Given the description of an element on the screen output the (x, y) to click on. 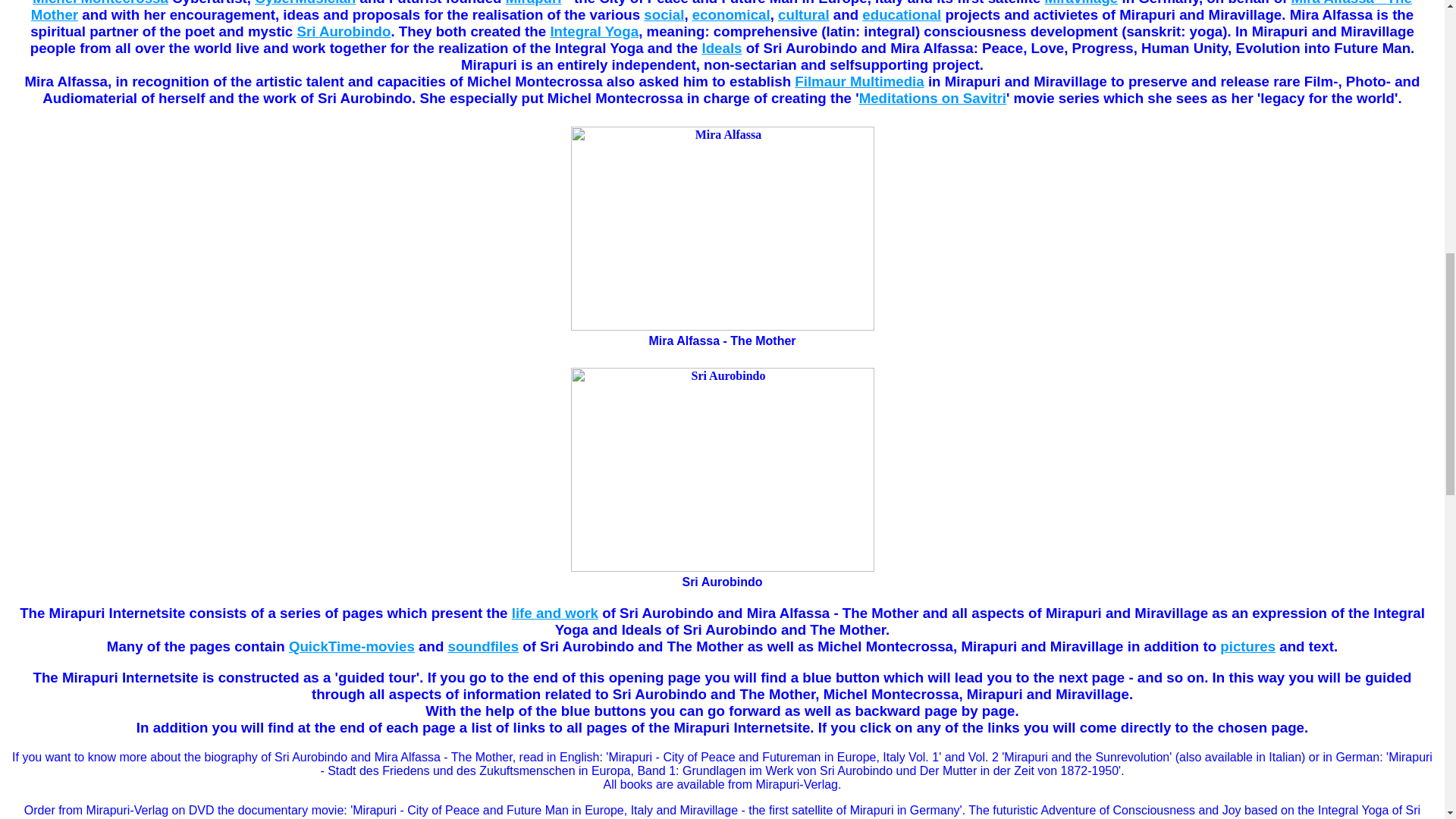
Meditations on Savitri (932, 98)
Mirapuri (533, 2)
economical (731, 14)
cultural (803, 14)
educational (900, 14)
Sri Aurobindo (343, 31)
social (663, 14)
Integral Yoga (594, 31)
Mira Alfassa - The Mother (721, 11)
Miravillage (1081, 2)
soundfiles (483, 646)
Michel Montecrossa (100, 2)
Ideals (721, 48)
pictures (1247, 646)
QuickTime-movies (351, 646)
